Given the description of an element on the screen output the (x, y) to click on. 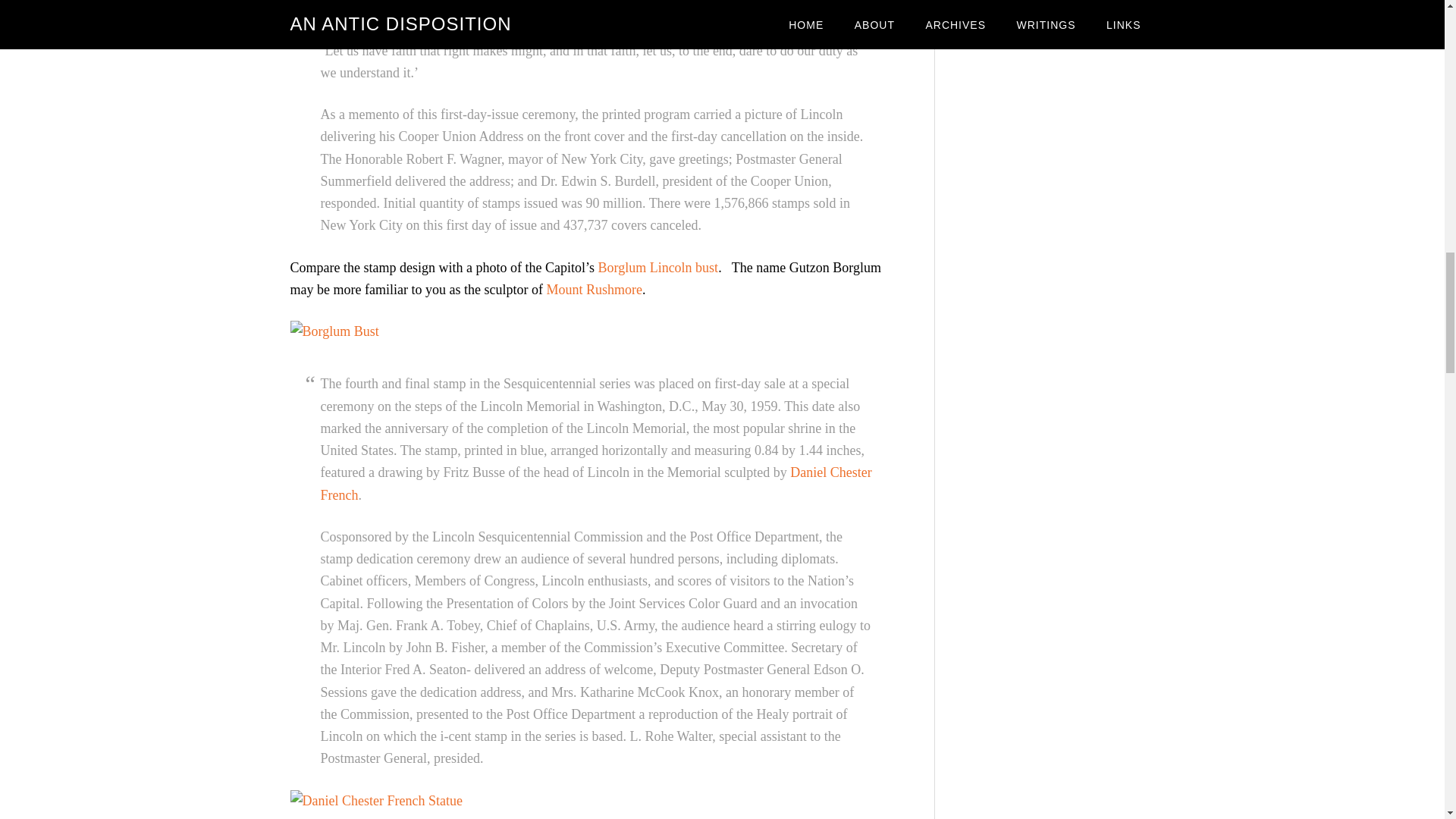
Daniel Chester French (595, 483)
Mount Rushmore (594, 289)
Daniel Chester French Statue (375, 800)
Borglum Bust (333, 331)
Borglum Lincoln bust (656, 267)
Daniel Chester French (595, 483)
Mount Rushmore (594, 289)
